Given the description of an element on the screen output the (x, y) to click on. 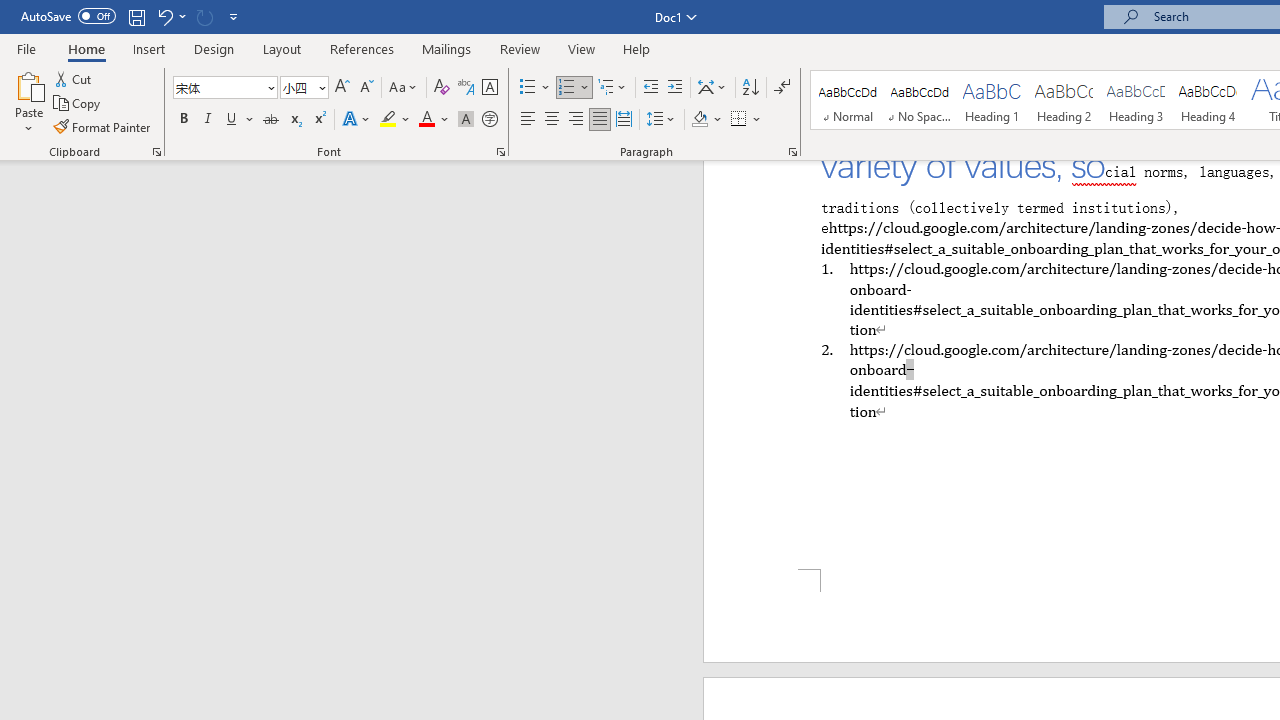
Change Case (404, 87)
Clear Formatting (442, 87)
Justify (599, 119)
